Given the description of an element on the screen output the (x, y) to click on. 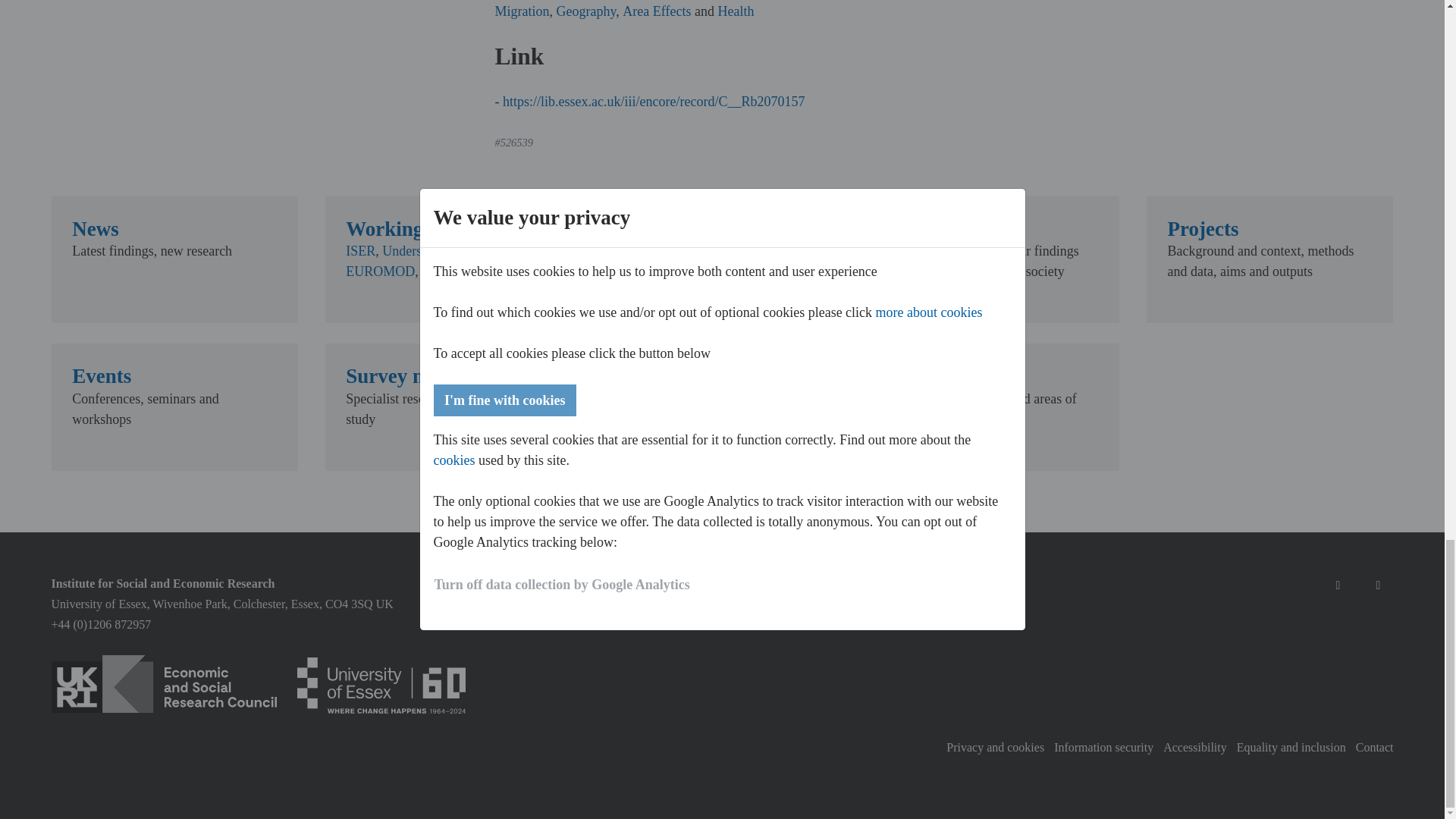
Geography (585, 11)
Area Effects (656, 11)
Migration (521, 11)
